Given the description of an element on the screen output the (x, y) to click on. 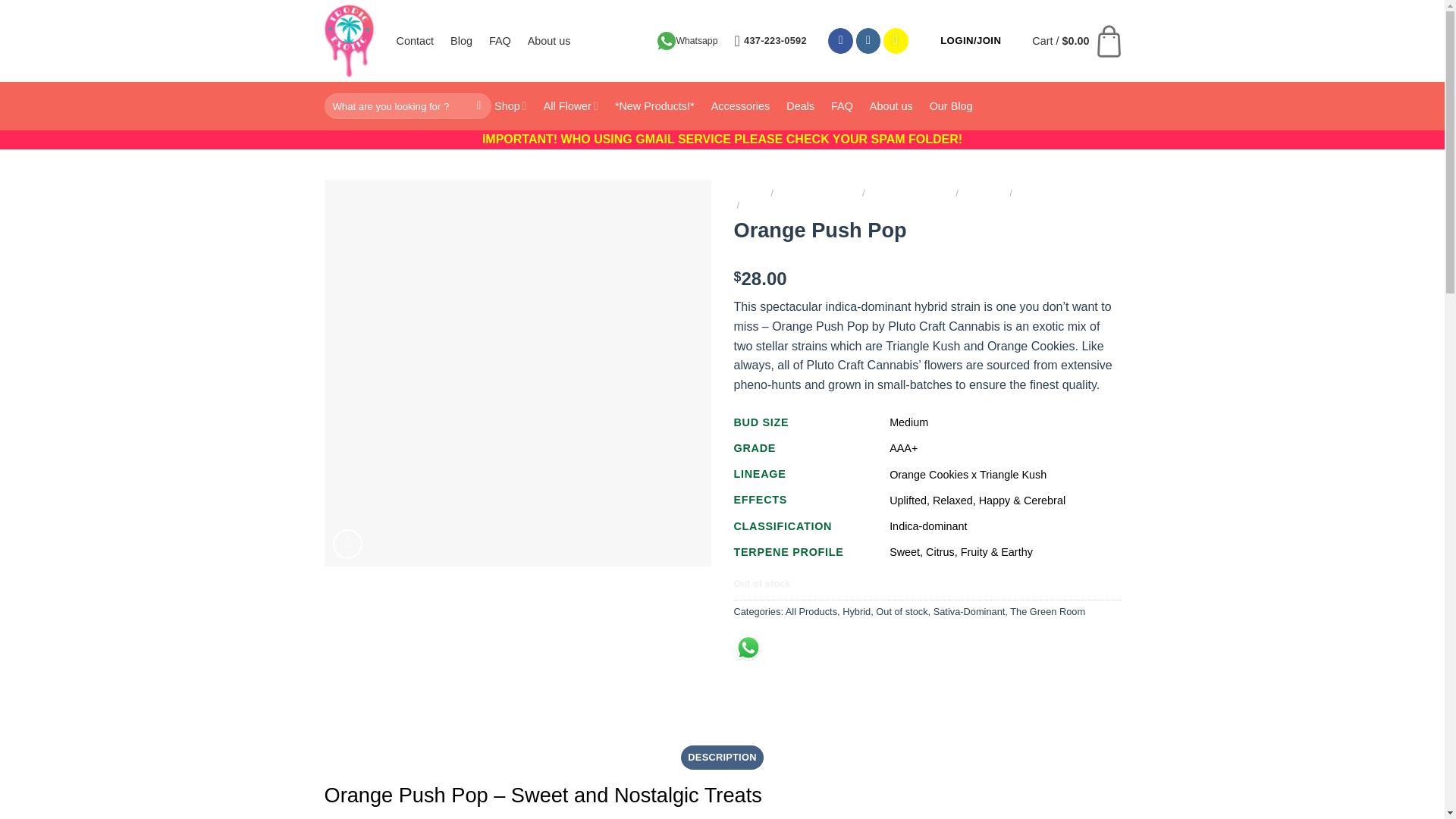
Whatsapp (687, 40)
Follow on Facebook (840, 40)
Search (478, 105)
Contact (414, 40)
Cart (1075, 40)
About us (548, 40)
Follow on SnapChat (895, 40)
All Flower (570, 105)
437-223-0592 (769, 40)
437-223-0592 (769, 40)
Follow on Instagram (868, 40)
